Given the description of an element on the screen output the (x, y) to click on. 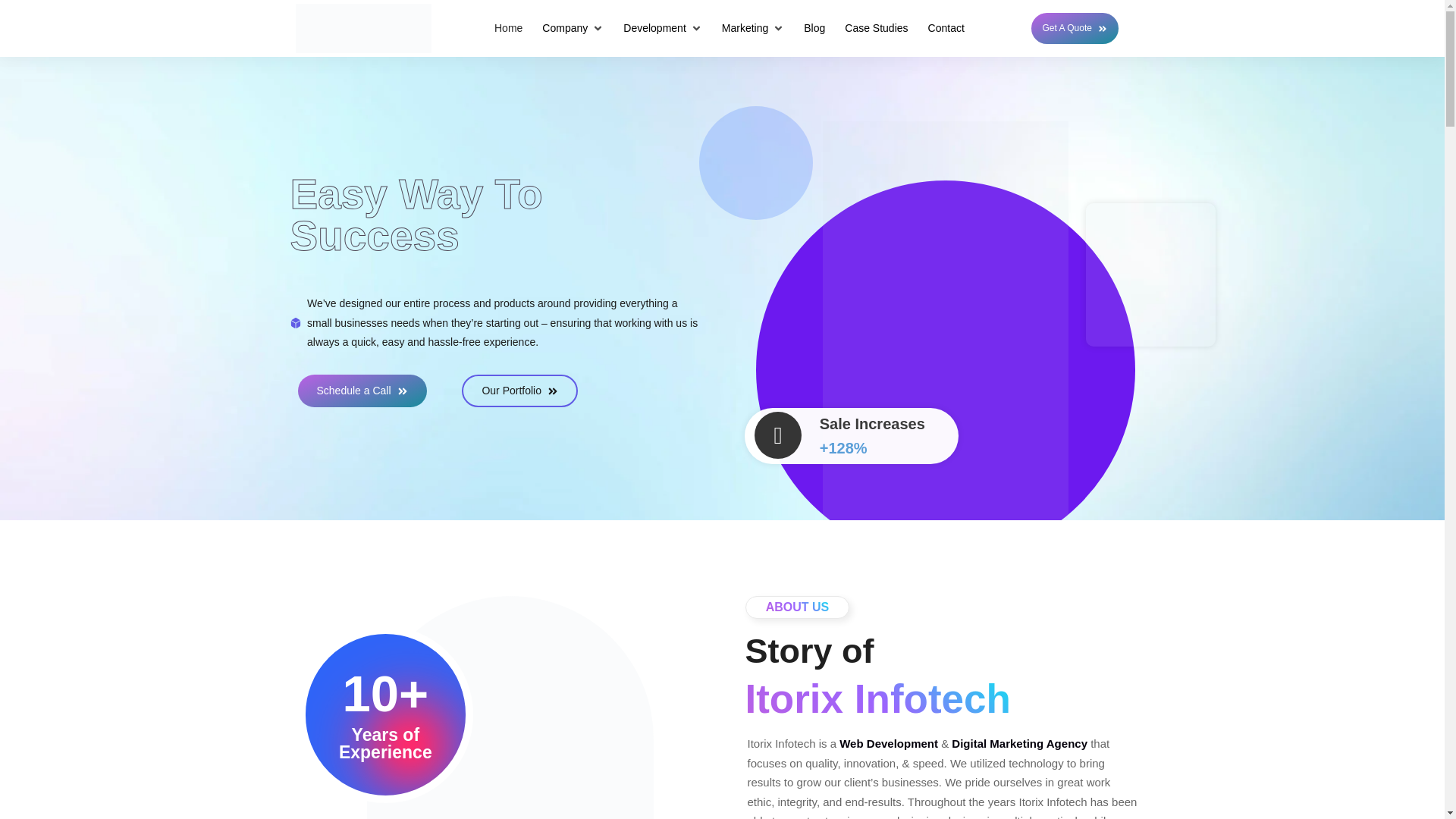
Marketing (752, 28)
Home (508, 28)
Company (572, 28)
Development (661, 28)
